Given the description of an element on the screen output the (x, y) to click on. 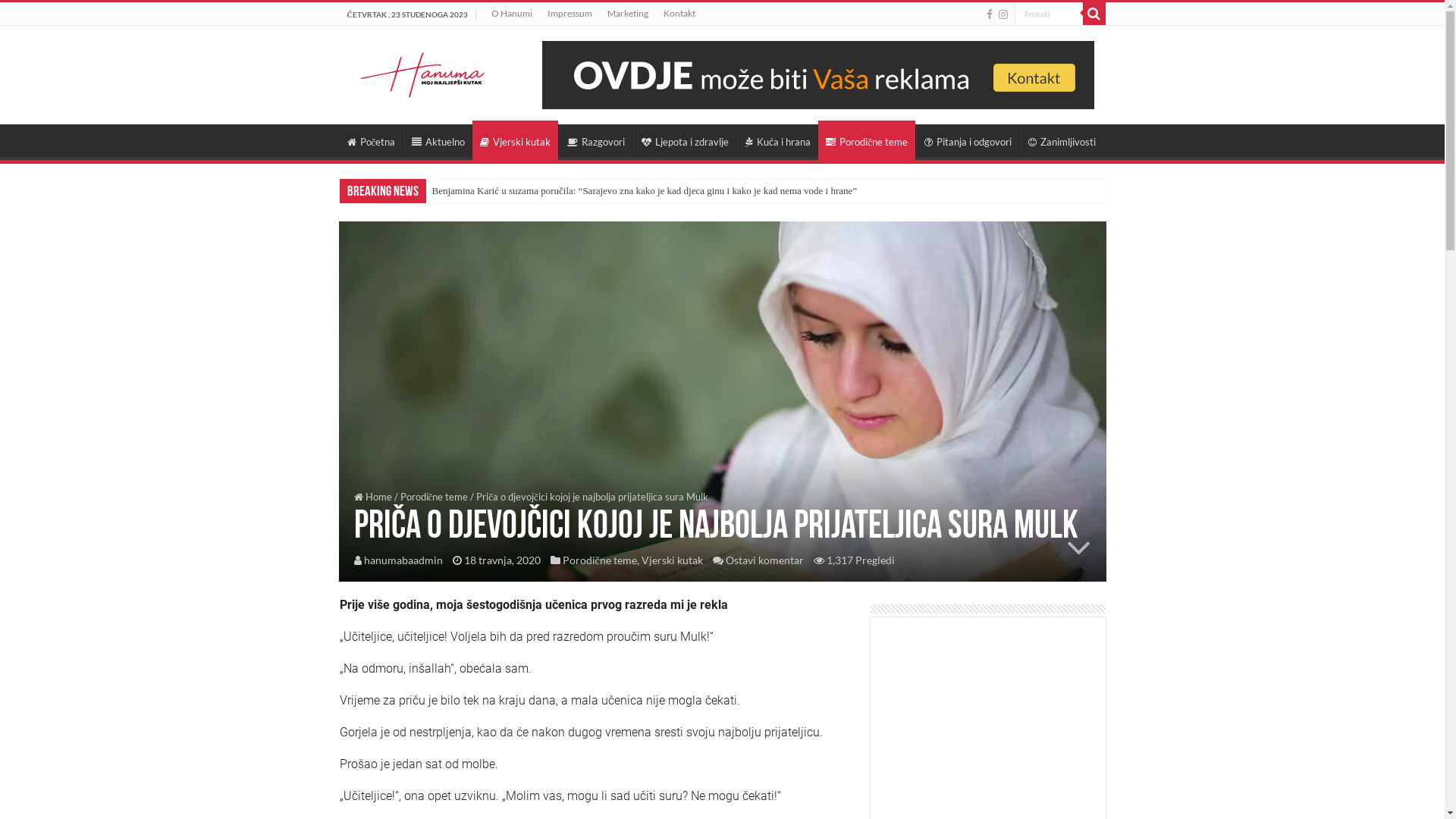
Vjerski kutak Element type: text (515, 140)
hanumabaadmin Element type: text (403, 559)
Razgovori Element type: text (595, 140)
Pitanja i odgovori Element type: text (967, 140)
Marketing Element type: text (627, 13)
Ljepota i zdravlje Element type: text (684, 140)
O Hanumi Element type: text (511, 13)
Home Element type: text (372, 496)
Aktuelno Element type: text (437, 140)
Zanimljivosti Element type: text (1061, 140)
Impressum Element type: text (569, 13)
Ostavi komentar Element type: text (764, 559)
Hanuma.ba Element type: hover (422, 71)
Vjerski kutak Element type: text (671, 559)
Kontakt Element type: text (678, 13)
instagram Element type: hover (1002, 14)
Facebook Element type: hover (988, 14)
